Given the description of an element on the screen output the (x, y) to click on. 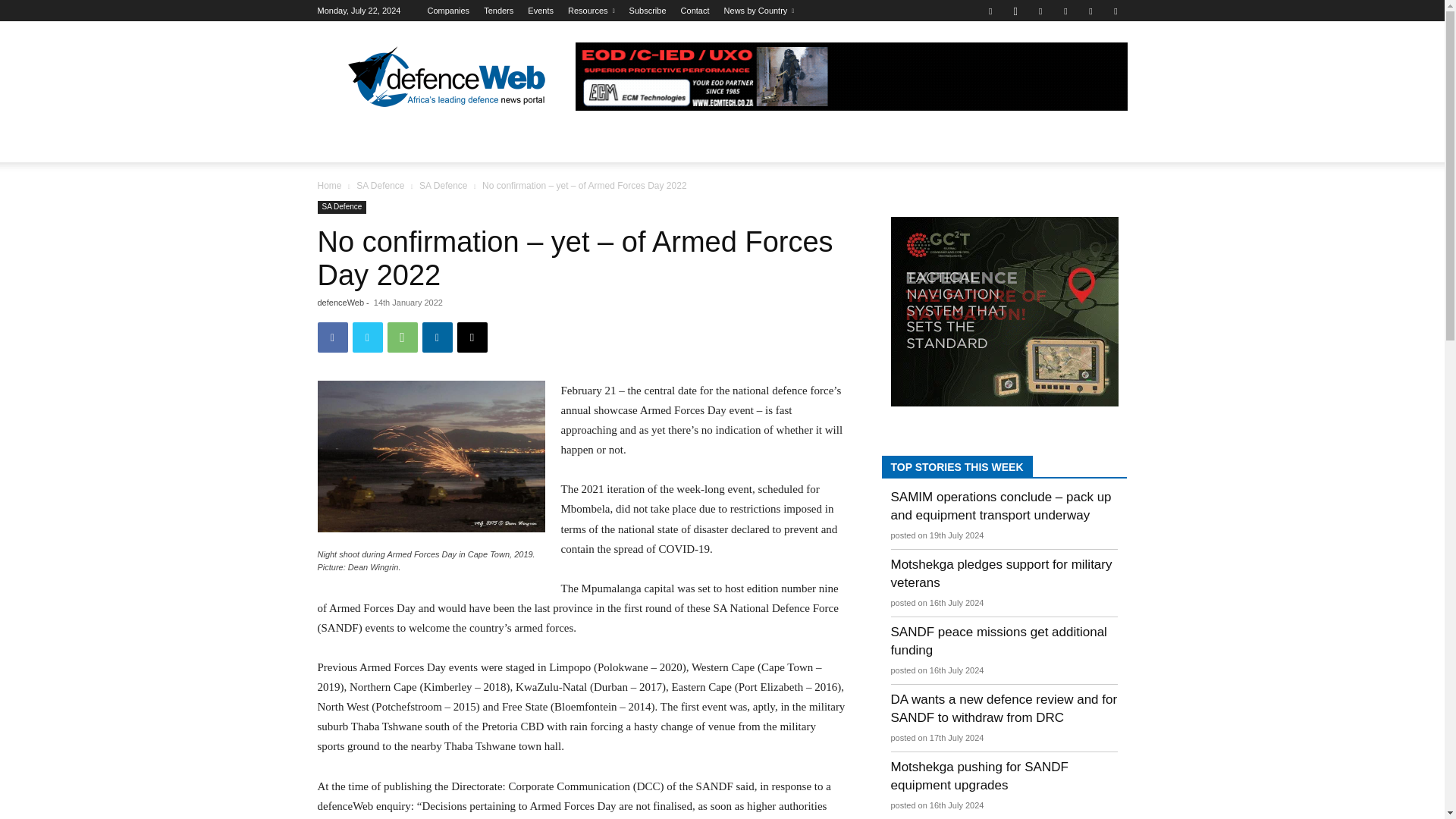
Youtube (1114, 10)
Mail (1065, 10)
Instagram (1015, 10)
Twitter (1090, 10)
Linkedin (1040, 10)
Facebook (989, 10)
